Given the description of an element on the screen output the (x, y) to click on. 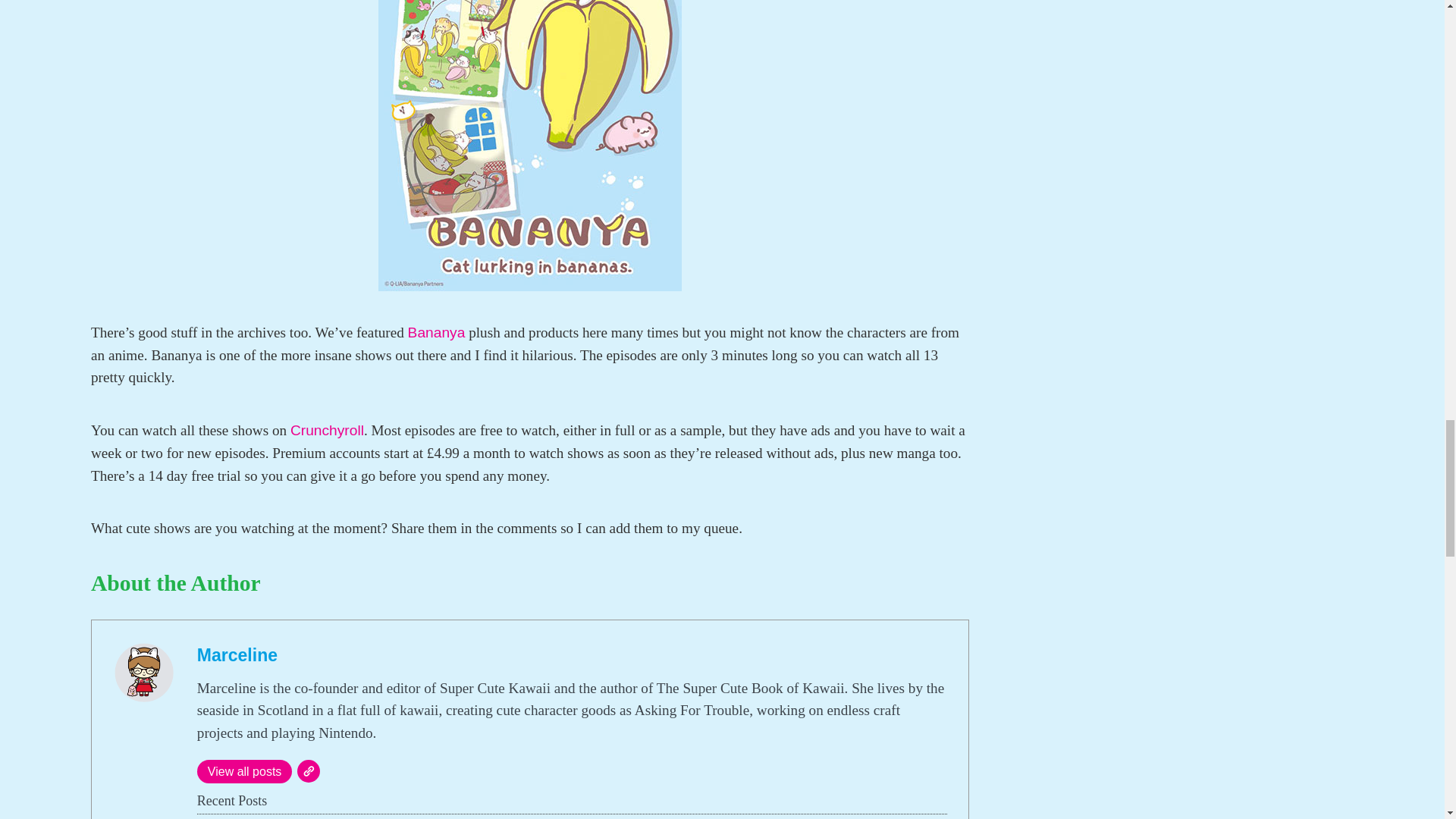
View all posts (244, 771)
Marceline (237, 655)
